Given the description of an element on the screen output the (x, y) to click on. 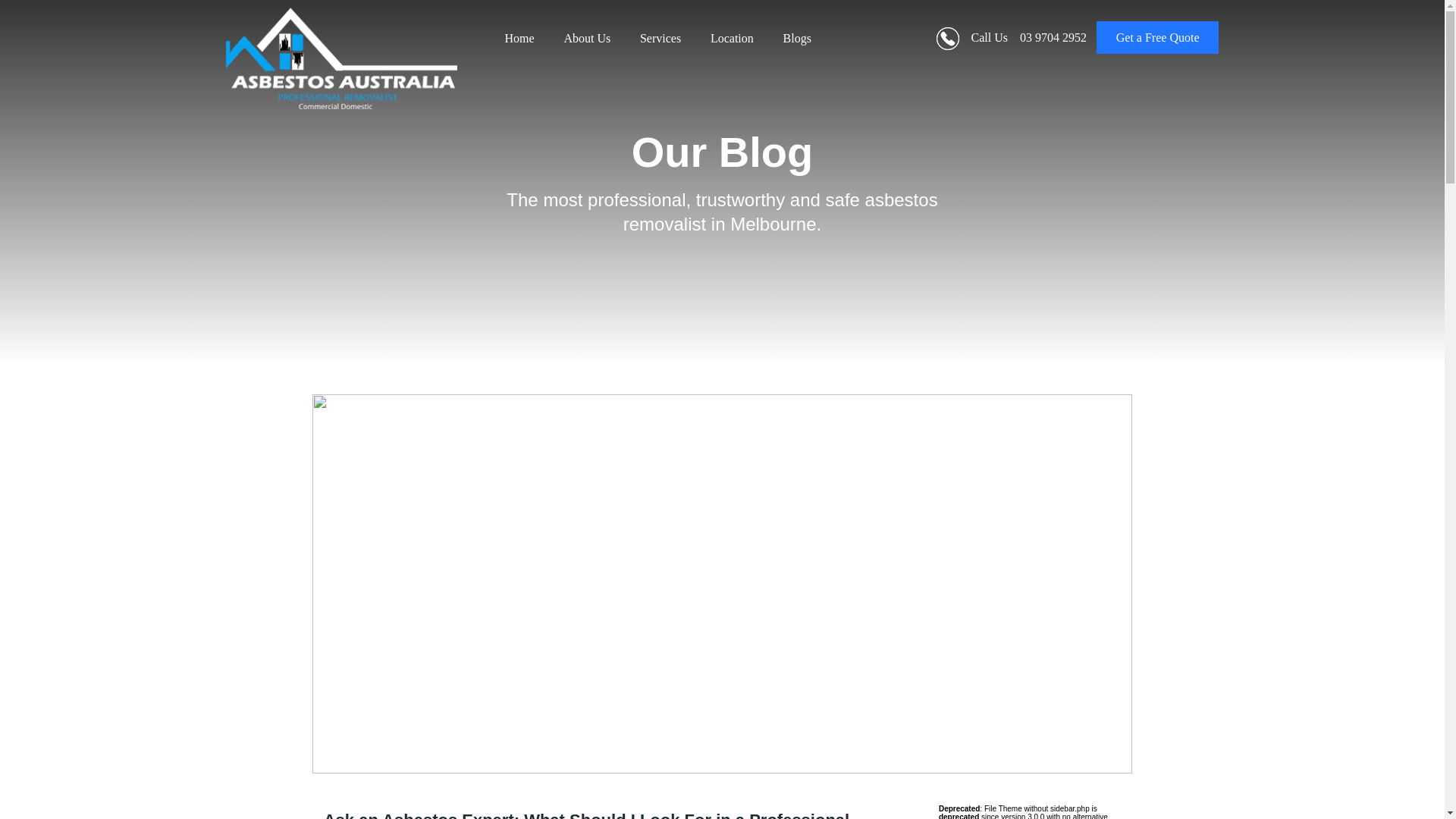
Blogs (796, 38)
Home (519, 38)
About Us (586, 38)
Services (660, 38)
Get a Free Quote (1158, 37)
03 9704 2952 (1053, 37)
Location (732, 38)
